Given the description of an element on the screen output the (x, y) to click on. 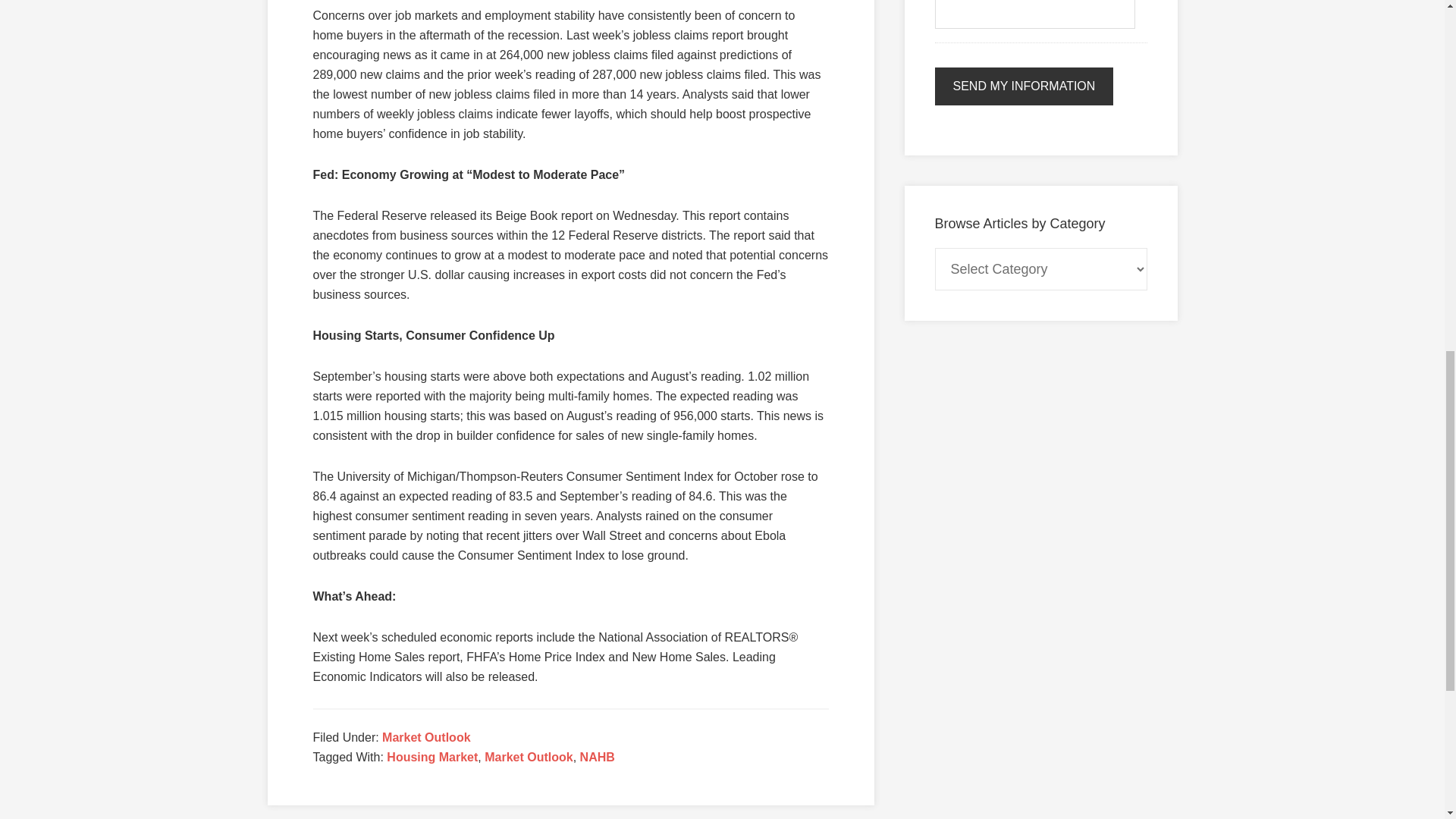
NAHB (596, 757)
Send My Information (1023, 86)
Market Outlook (425, 737)
Send My Information (1023, 86)
Market Outlook (528, 757)
Housing Market (432, 757)
